Given the description of an element on the screen output the (x, y) to click on. 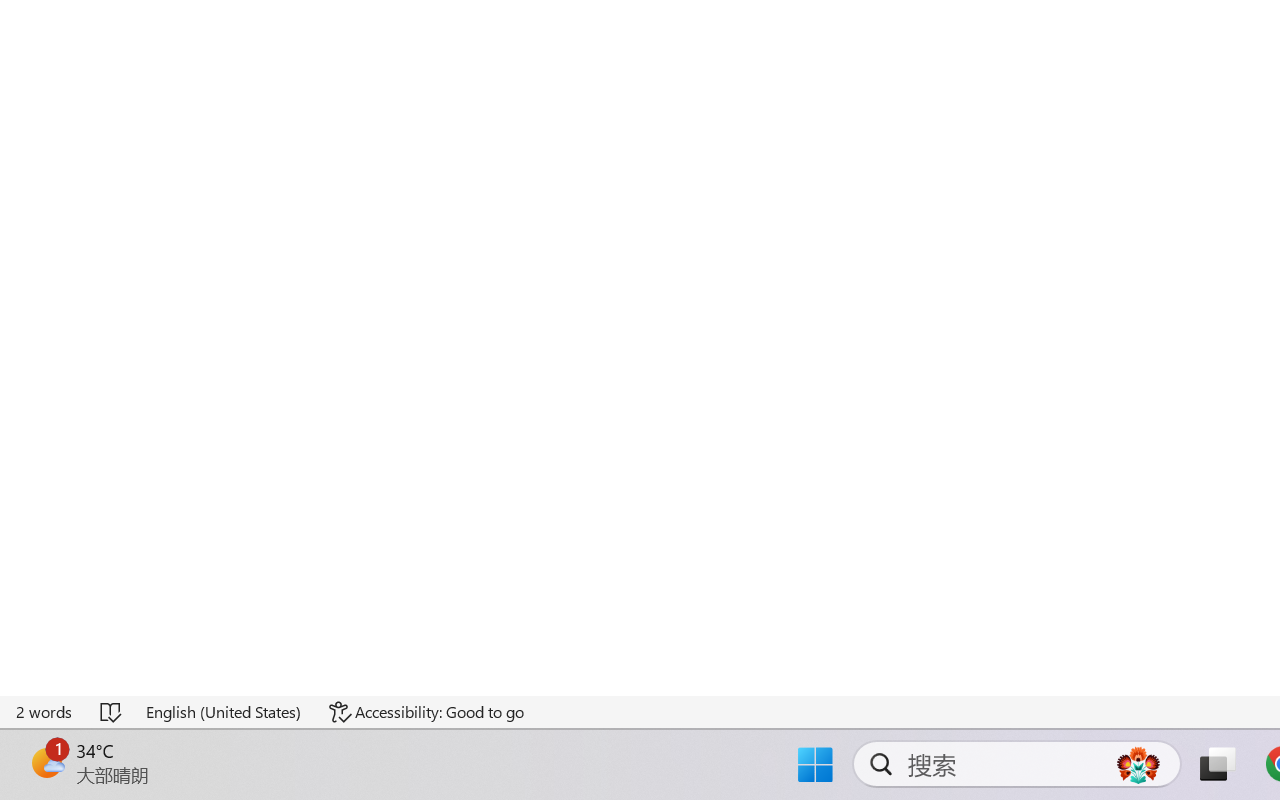
Word Count 2 words (45, 712)
Language English (United States) (224, 712)
AutomationID: BadgeAnchorLargeTicker (46, 762)
AutomationID: DynamicSearchBoxGleamImage (1138, 764)
Accessibility Checker Accessibility: Good to go (426, 712)
Spelling and Grammar Check No Errors (112, 712)
